Given the description of an element on the screen output the (x, y) to click on. 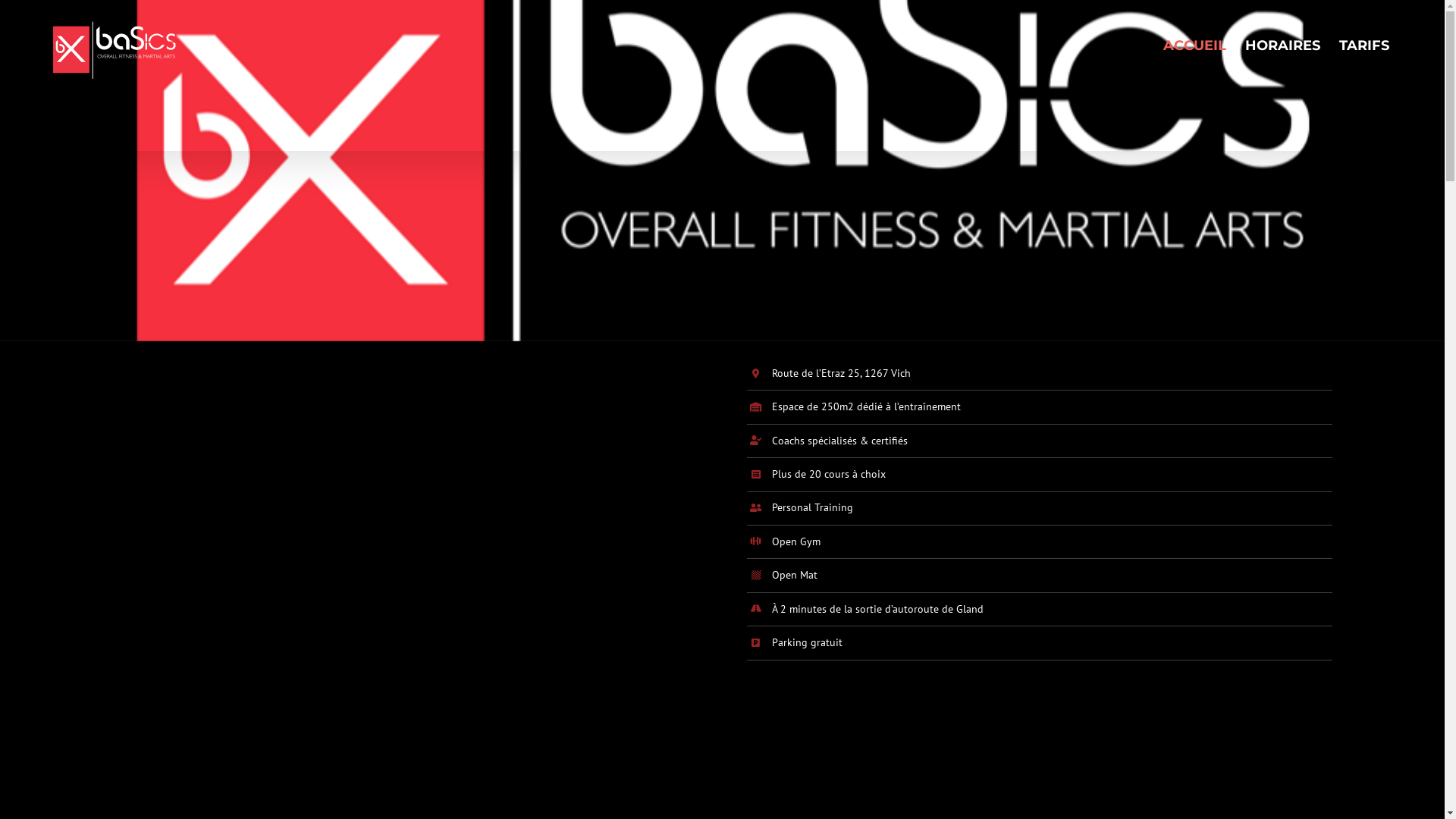
HORAIRES Element type: text (1282, 45)
ACCUEIL Element type: text (1194, 45)
TARIFS Element type: text (1364, 45)
